Given the description of an element on the screen output the (x, y) to click on. 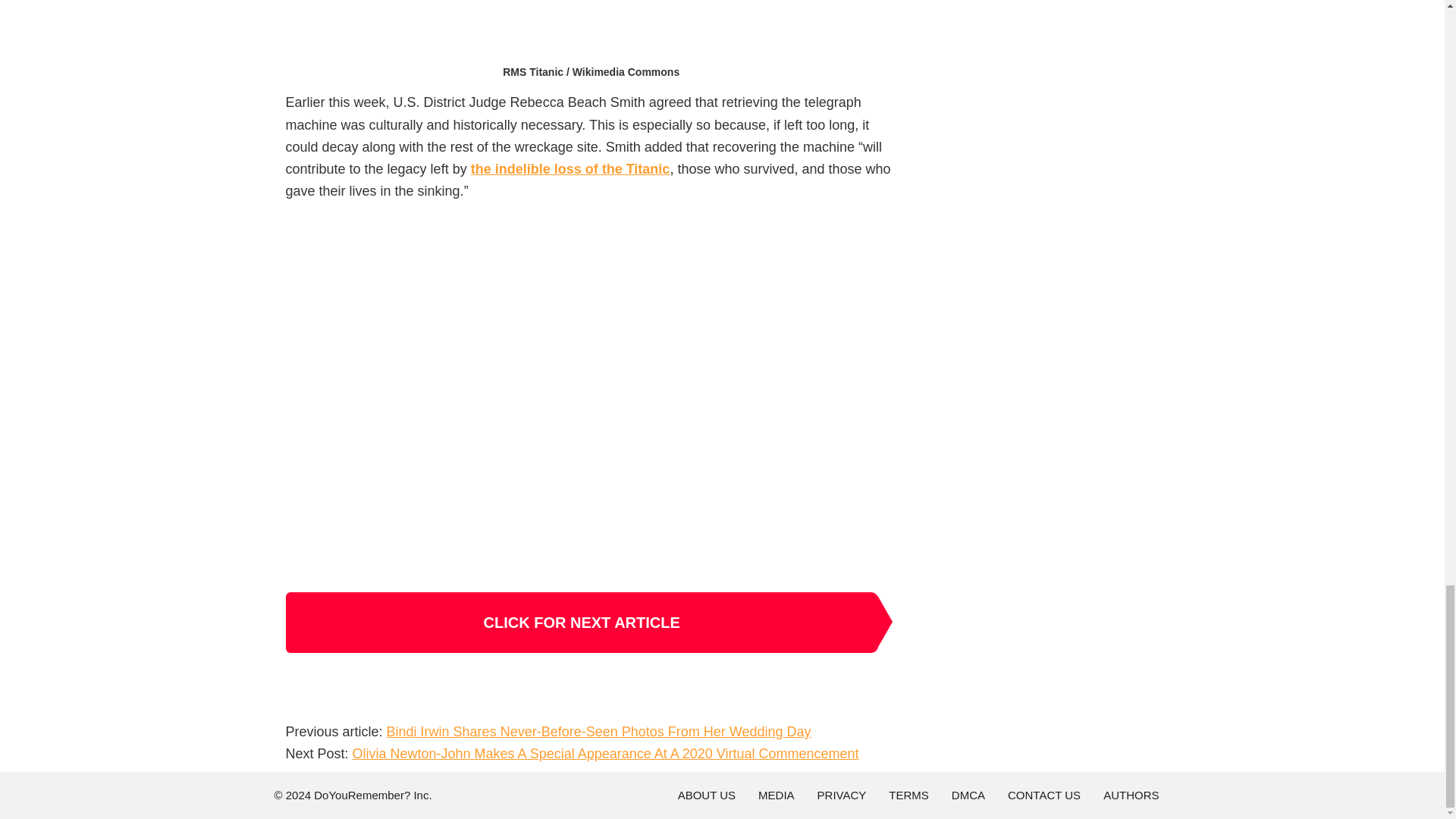
ABOUT US (706, 795)
the indelible loss of the Titanic (569, 168)
CLICK FOR NEXT ARTICLE (581, 622)
